Given the description of an element on the screen output the (x, y) to click on. 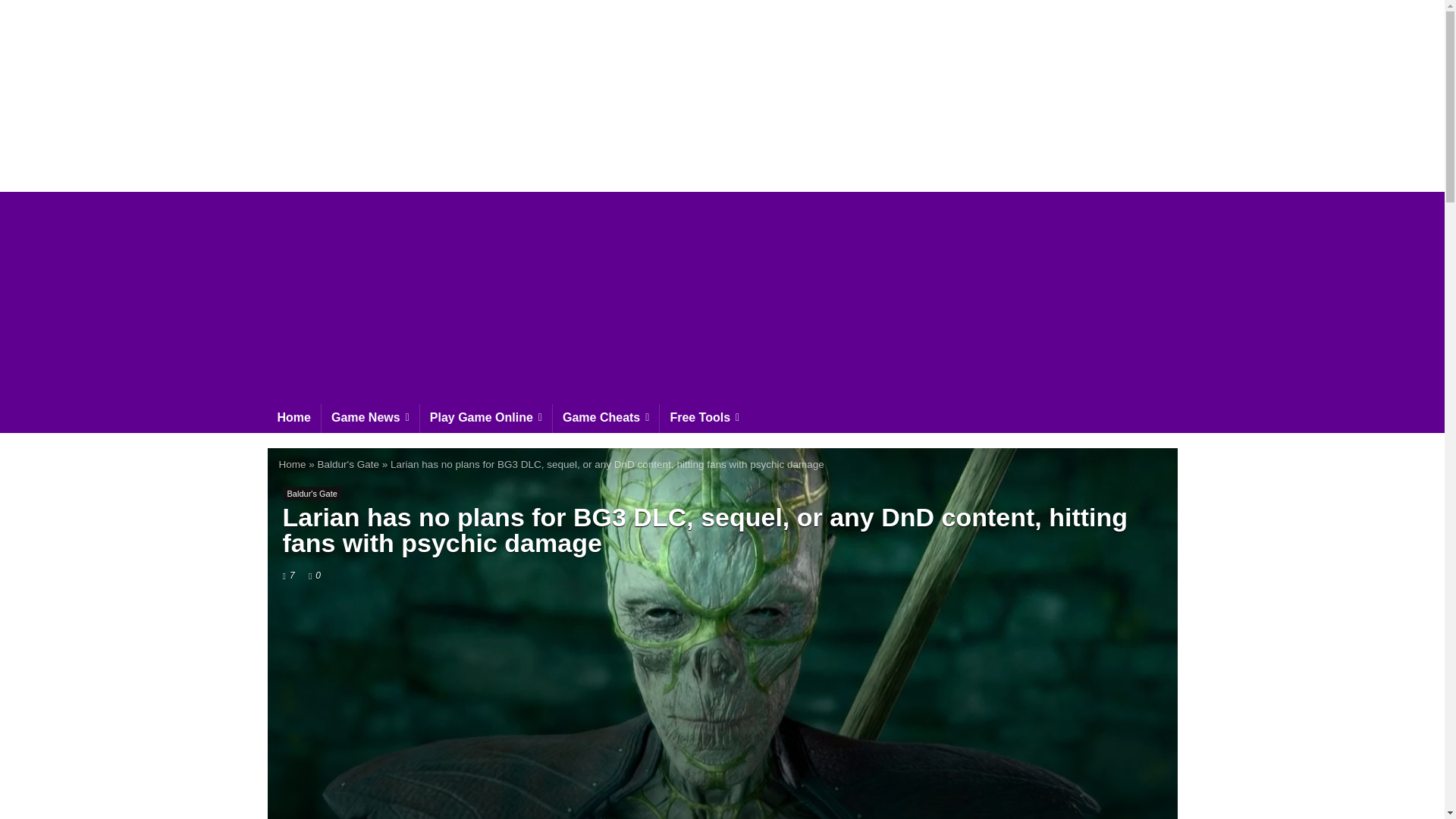
Home (293, 418)
Play Game Online (485, 418)
View all posts in Baldur's Gate (311, 493)
Game News (370, 418)
Game Cheats (606, 418)
Free Tools (704, 418)
